Given the description of an element on the screen output the (x, y) to click on. 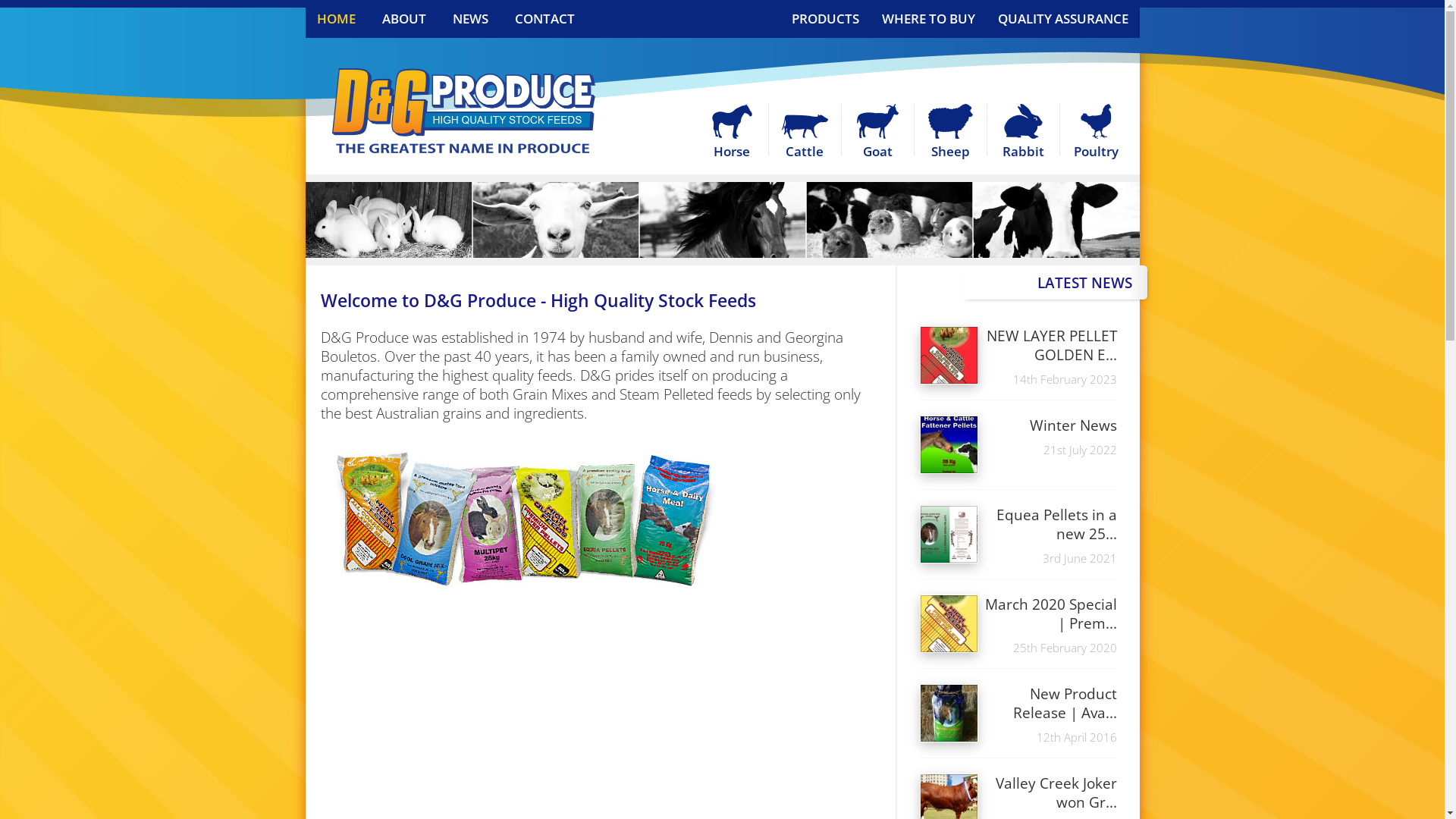
CONTACT Element type: text (544, 18)
PRODUCTS Element type: text (825, 18)
NEW LAYER PELLET GOLDEN E...
14th February 2023 Element type: text (1017, 356)
QUALITY ASSURANCE Element type: text (1062, 18)
New Product Release | Ava...
12th April 2016 Element type: text (1017, 714)
Horse Element type: text (731, 132)
Winter News
21st July 2022 Element type: text (1017, 436)
HOME Element type: text (335, 18)
Rabbit Element type: text (1022, 132)
Poultry Element type: text (1095, 132)
Cattle Element type: text (804, 132)
March 2020 Special | Prem...
25th February 2020 Element type: text (1017, 624)
WHERE TO BUY Element type: text (927, 18)
Goat Element type: text (877, 132)
Sheep Element type: text (950, 132)
ABOUT Element type: text (404, 18)
NEWS Element type: text (469, 18)
Equea Pellets in a new 25...
3rd June 2021 Element type: text (1017, 535)
